Given the description of an element on the screen output the (x, y) to click on. 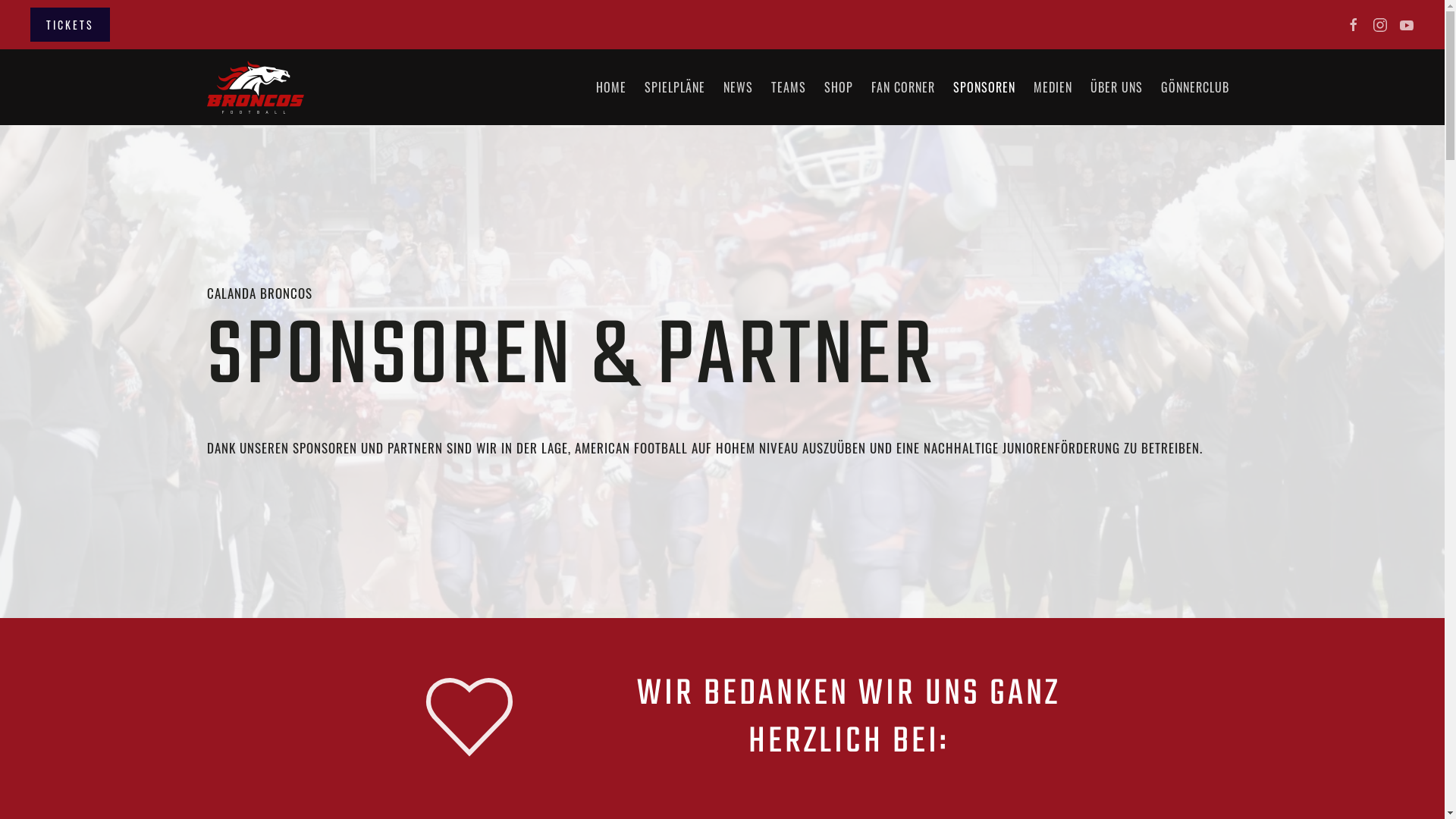
TICKETS Element type: text (69, 24)
MEDIEN Element type: text (1051, 87)
SHOP Element type: text (837, 87)
TEAMS Element type: text (787, 87)
NEWS Element type: text (738, 87)
HOME Element type: text (610, 87)
FAN CORNER Element type: text (902, 87)
SPONSOREN Element type: text (983, 87)
